Given the description of an element on the screen output the (x, y) to click on. 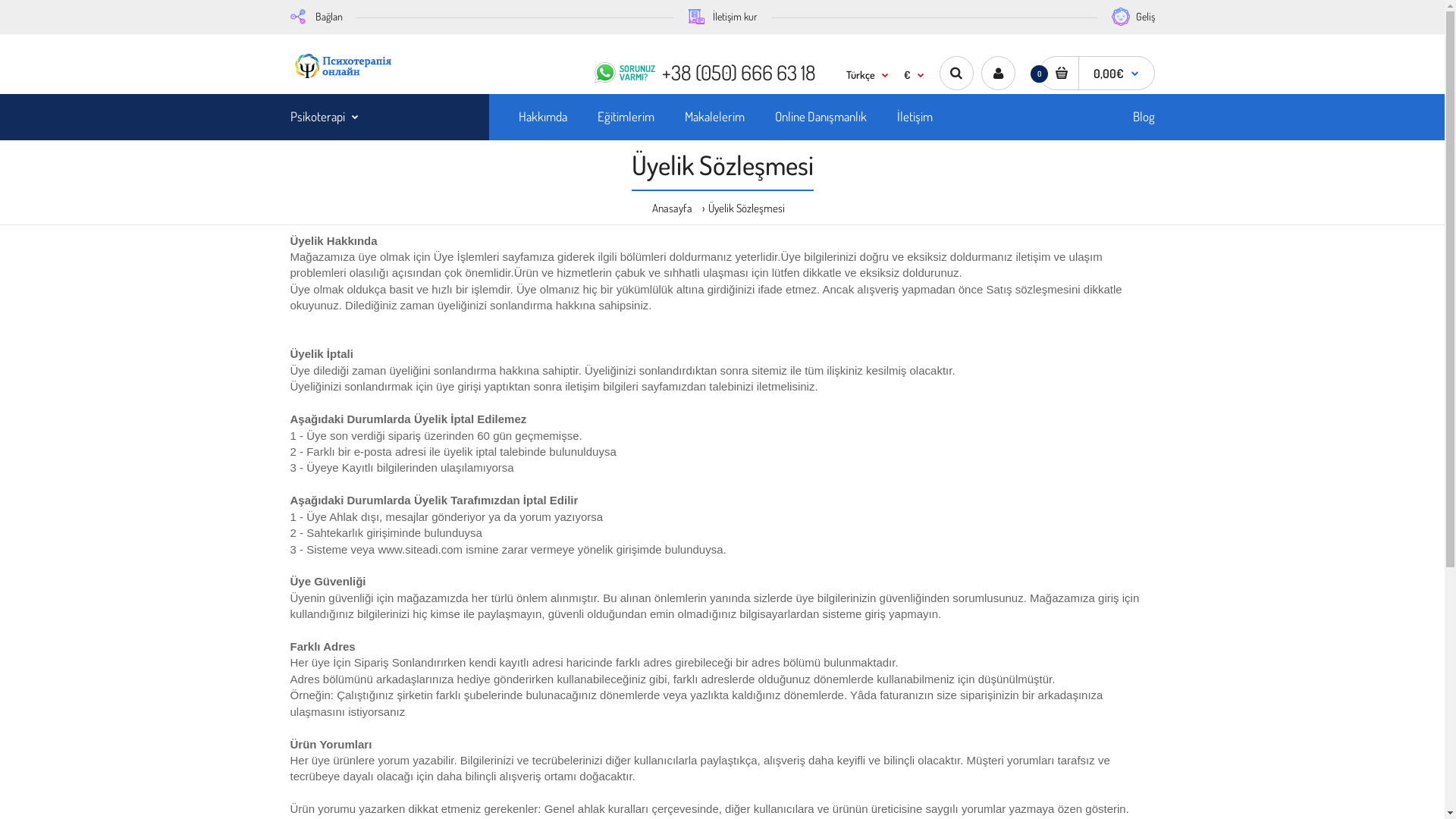
Anasayfa Element type: text (672, 207)
Blog Element type: text (1142, 117)
Makalelerim Element type: text (714, 117)
SORUNUZ
VARMI? +38 (050) 666 63 18 Element type: text (704, 69)
